Given the description of an element on the screen output the (x, y) to click on. 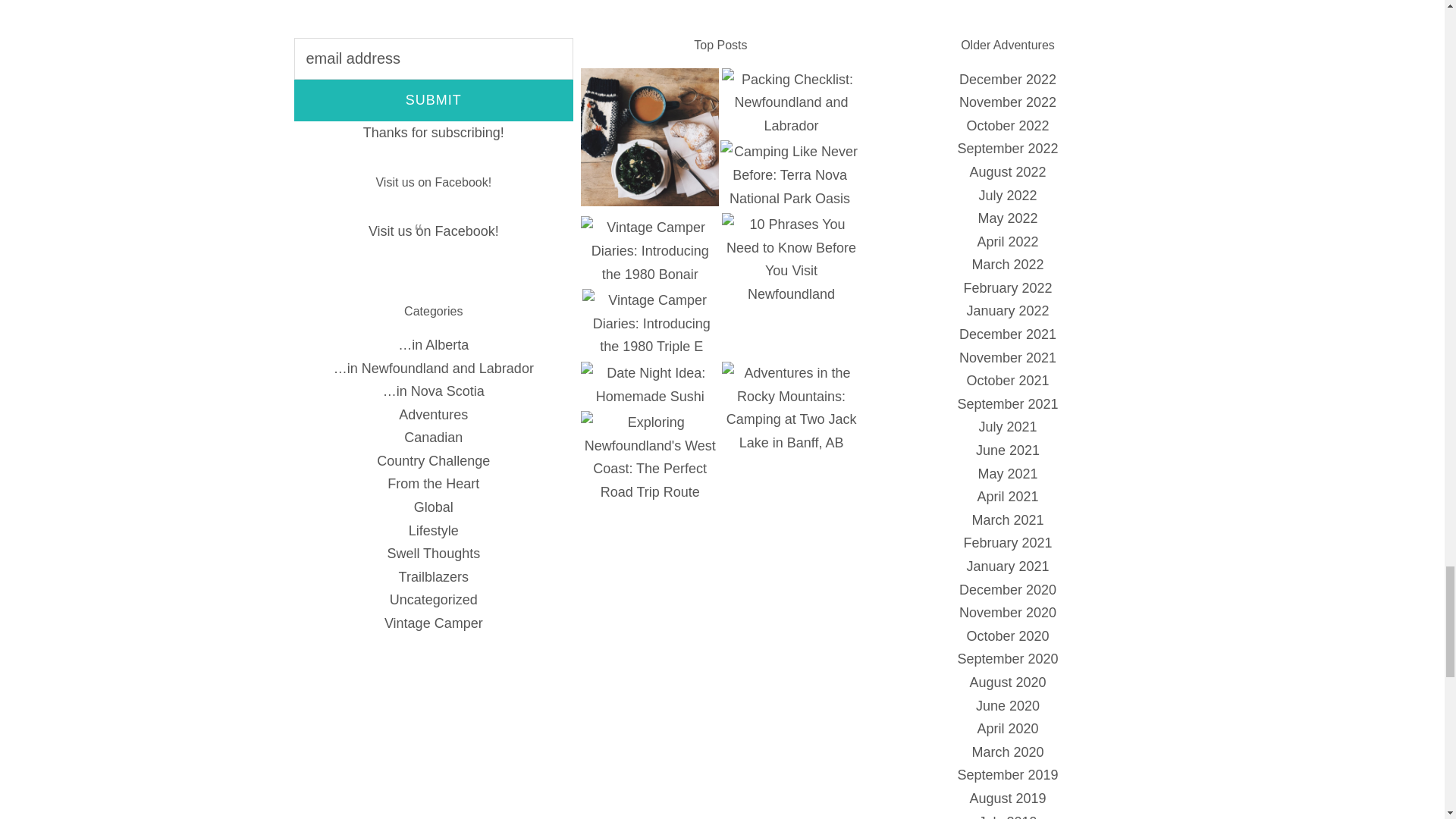
Packing Checklist: Newfoundland and Labrador (791, 102)
Camping Like Never Before: Terra Nova National Park Oasis (789, 174)
10 Phrases You Need to Know Before You Visit Newfoundland (791, 258)
Vintage Camper Diaries: Introducing the 1980 Triple E (651, 323)
Date Night Idea: Homemade Sushi (649, 384)
Vintage Camper Diaries: Introducing the 1980 Bonair (649, 250)
Submit (433, 100)
